Given the description of an element on the screen output the (x, y) to click on. 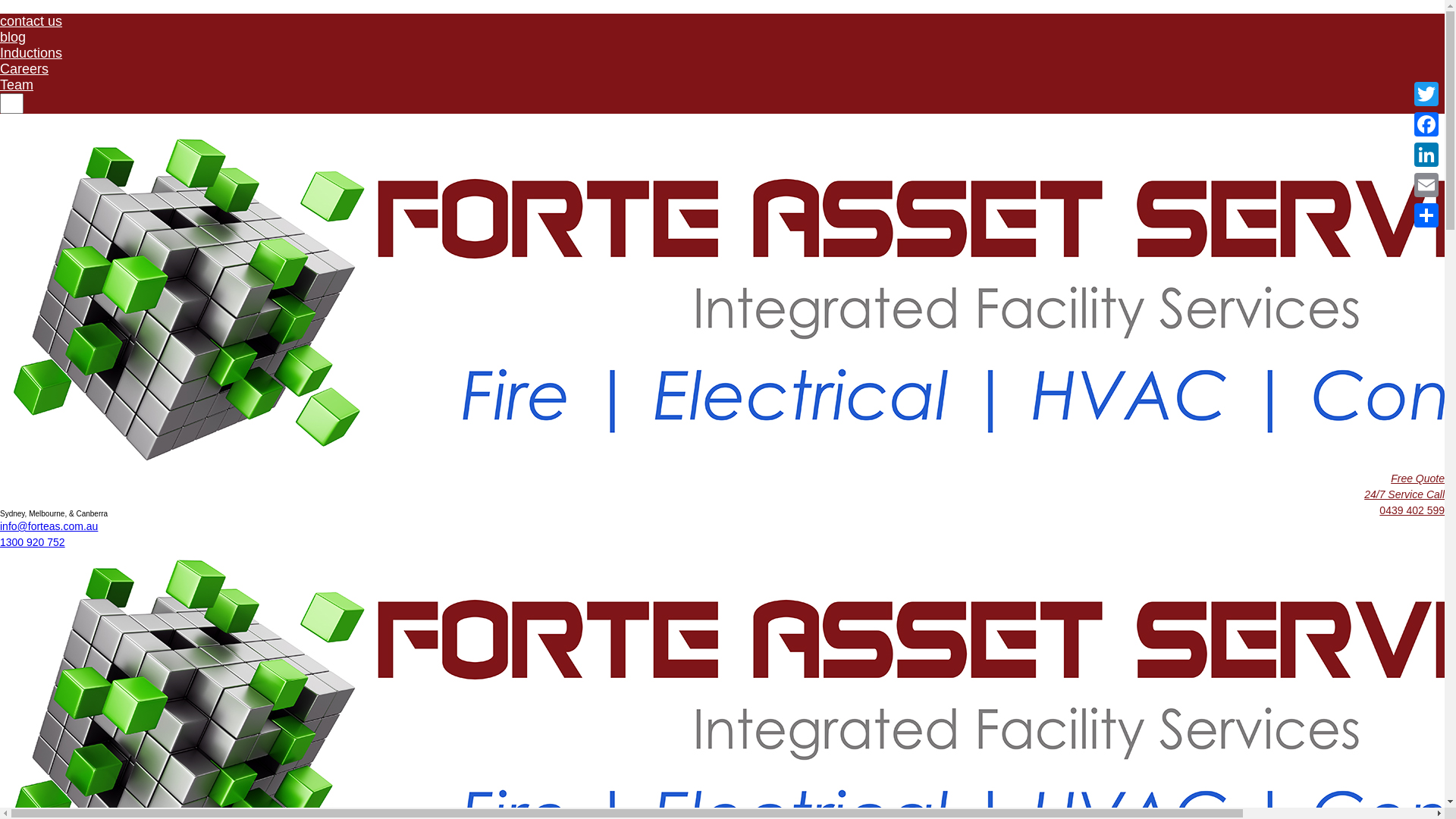
Careers Element type: text (24, 68)
blog Element type: text (12, 36)
24/7 Service Call Element type: text (1404, 494)
Twitter Element type: text (1426, 93)
Free Quote Element type: text (1417, 478)
LinkedIn Element type: text (1426, 154)
Email Element type: text (1426, 184)
Share Element type: text (1426, 215)
1300 920 752 Element type: text (32, 542)
info@forteas.com.au Element type: text (48, 526)
contact us Element type: text (31, 20)
Team Element type: text (16, 84)
Inductions Element type: text (31, 52)
Facebook Element type: text (1426, 124)
Sydney, Melbourne, & Canberra Element type: text (53, 513)
0439 402 599 Element type: text (1411, 510)
